Given the description of an element on the screen output the (x, y) to click on. 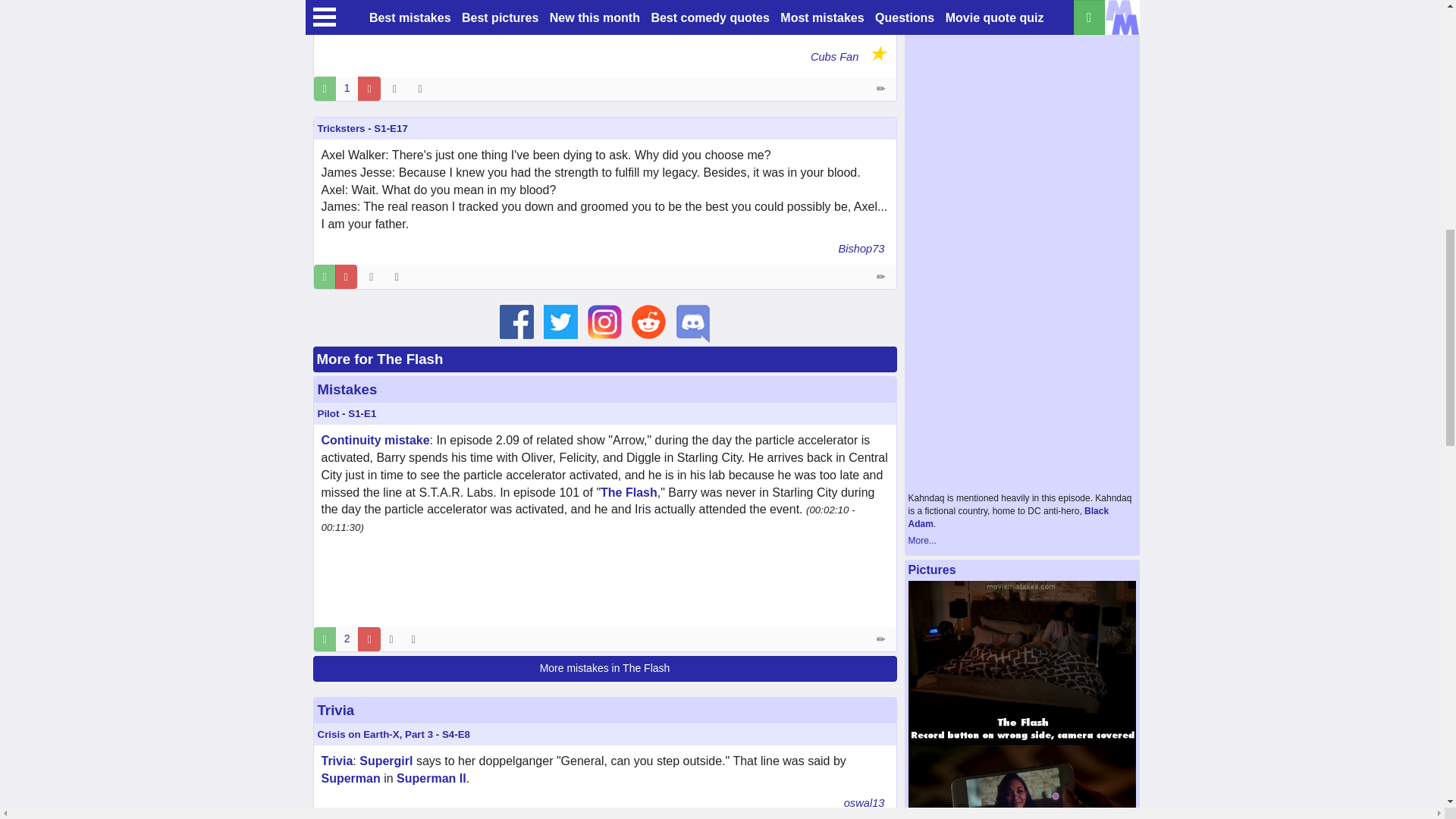
I like this (325, 88)
I like this (325, 276)
I dislike this (369, 88)
Entry 218823 (881, 88)
I dislike this (345, 276)
Share this entry (423, 88)
